Given the description of an element on the screen output the (x, y) to click on. 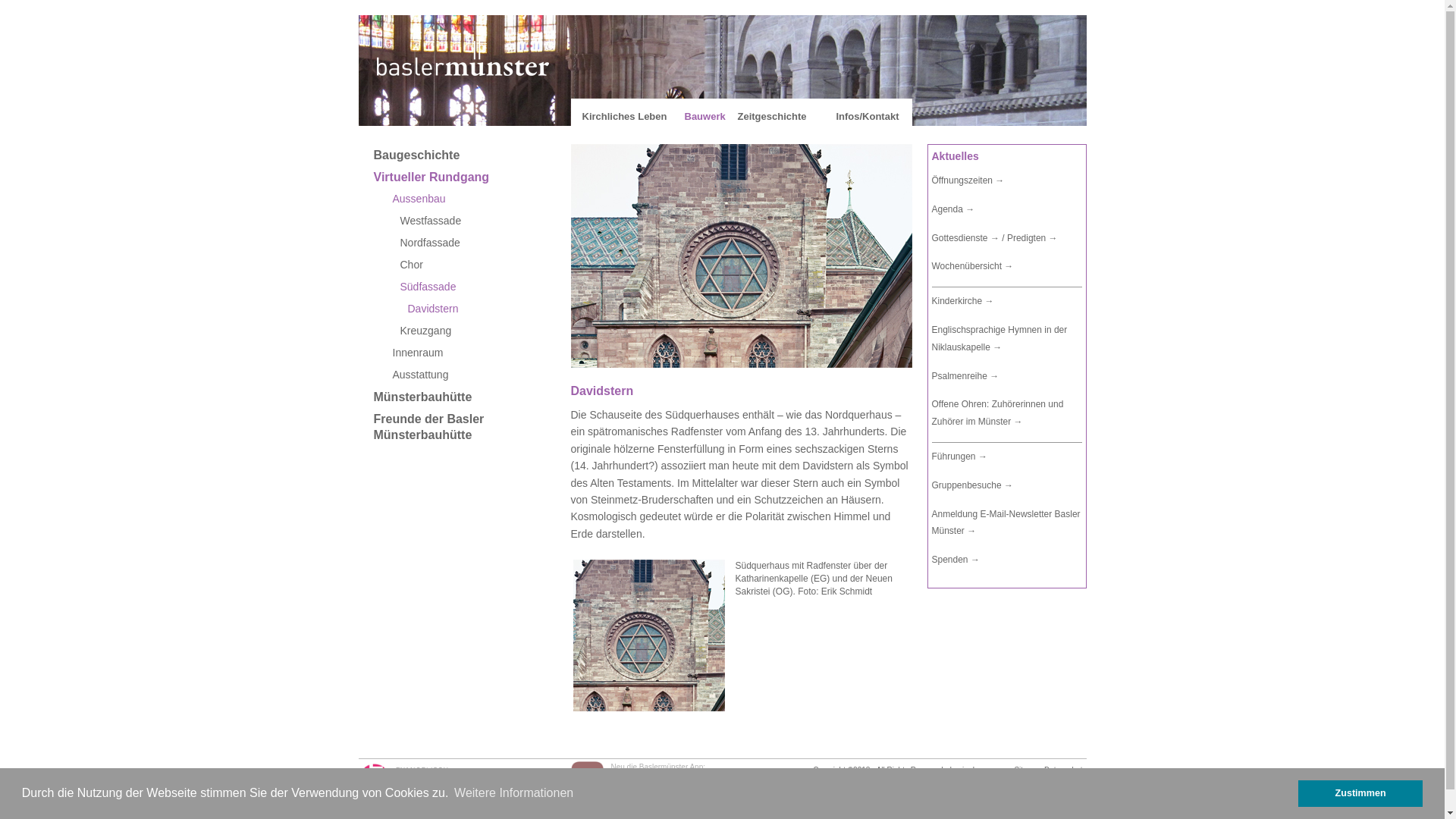
Zeitgeschichte Element type: text (771, 116)
Zustimmen Element type: text (1360, 793)
Weitere Informationen Element type: text (513, 792)
Chor Element type: text (475, 265)
Infos/Kontakt Element type: text (866, 116)
Login Element type: text (958, 769)
Davidstern Element type: text (475, 309)
Aussenbau Element type: text (475, 199)
Virtueller Rundgang Element type: text (475, 177)
Impressum Element type: text (990, 769)
Westfassade Element type: text (475, 221)
Ausstattung Element type: text (475, 374)
Baugeschichte Element type: text (475, 155)
Datenschutz Element type: text (1065, 769)
Kreuzgang Element type: text (475, 331)
Bauwerk Element type: text (704, 116)
Nordfassade Element type: text (475, 243)
Sitemap Element type: text (1027, 769)
Innenraum Element type: text (475, 353)
Kirchliches Leben Element type: text (624, 116)
